Given the description of an element on the screen output the (x, y) to click on. 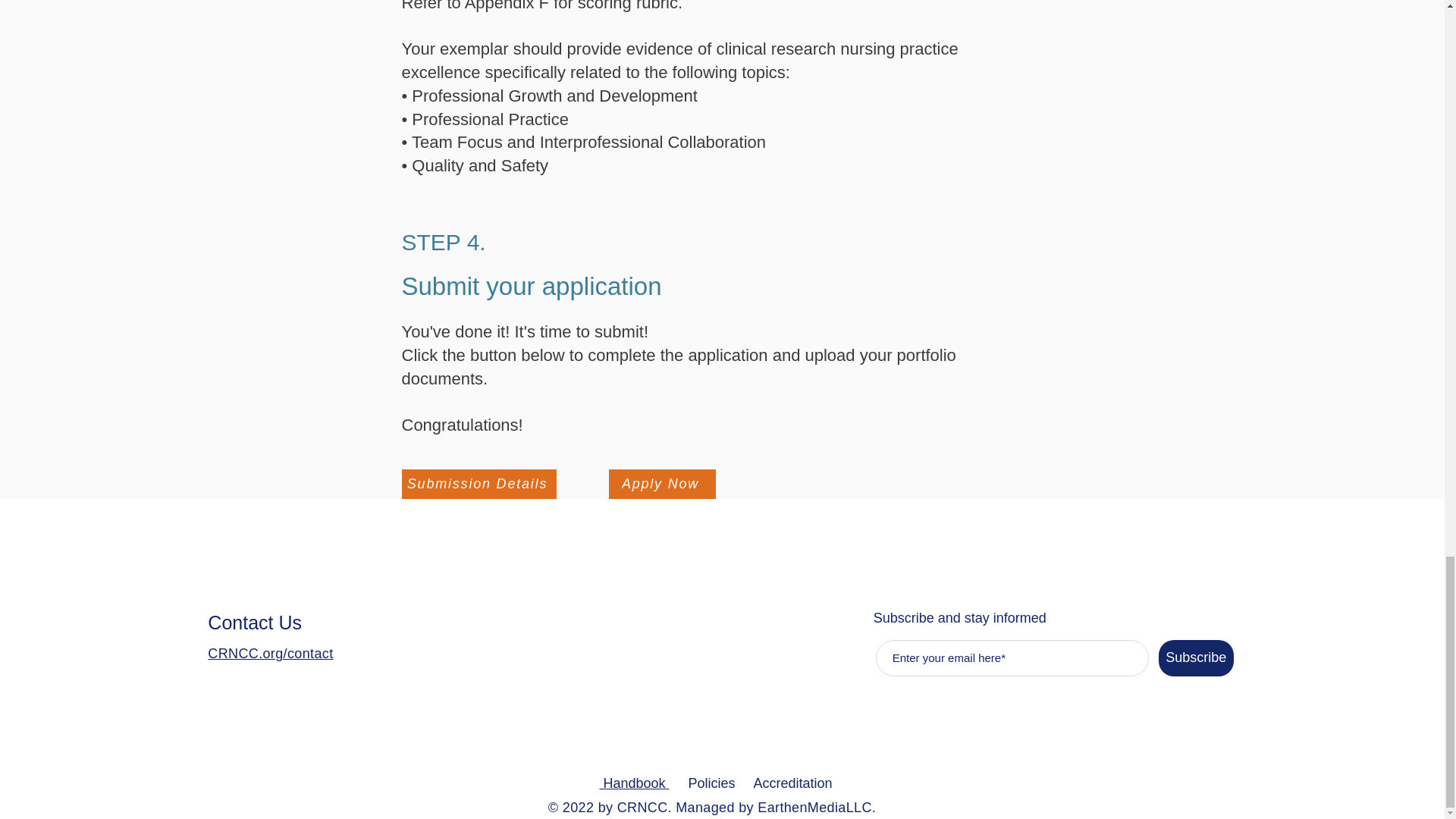
Apply Now (661, 483)
Subscribe (1195, 657)
 Handbook  (633, 783)
Submission Details (478, 483)
